Given the description of an element on the screen output the (x, y) to click on. 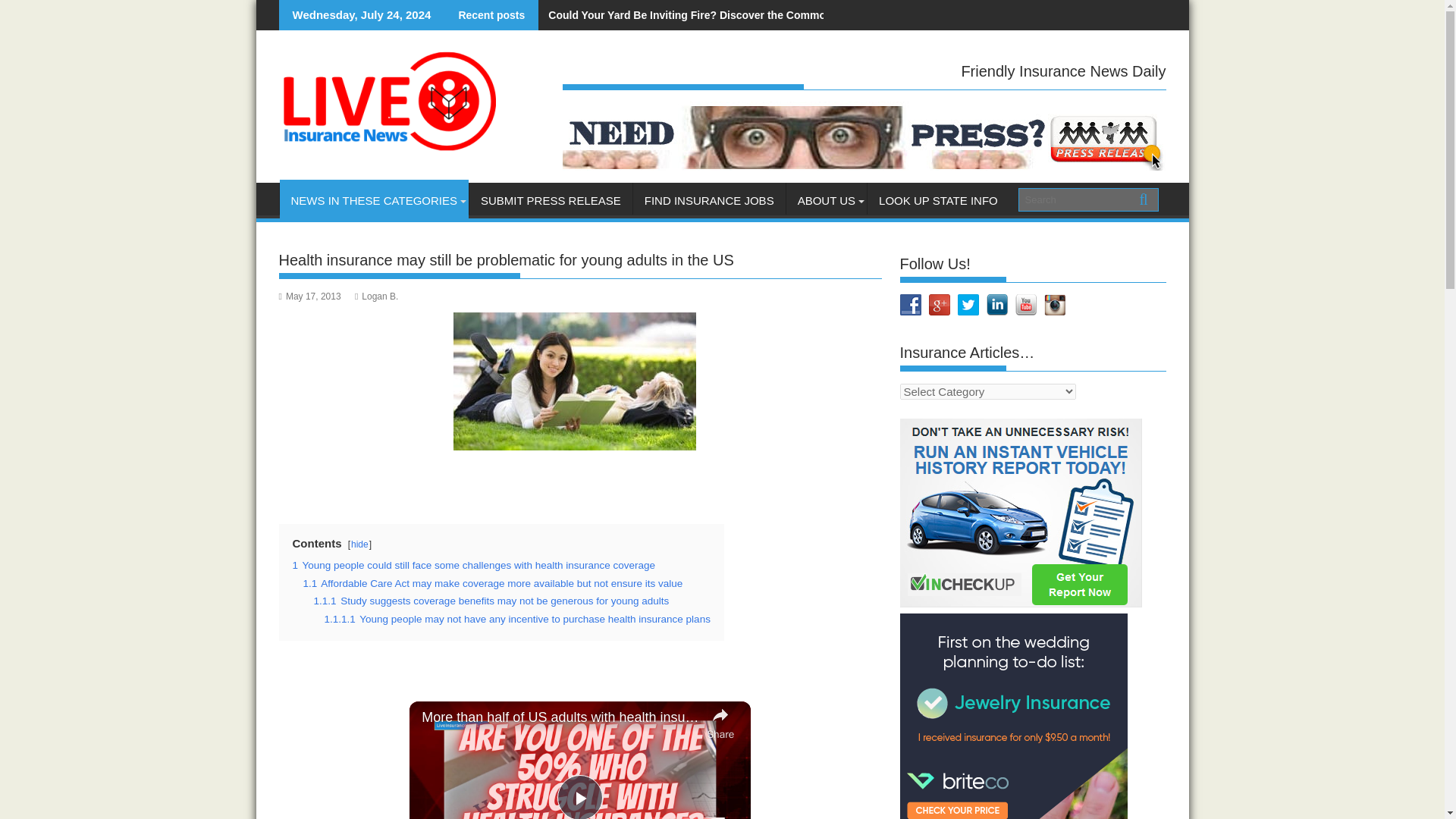
SUBMIT PRESS RELEASE (549, 200)
ABOUT US (826, 200)
LOOK UP STATE INFO (938, 200)
NEWS IN THESE CATEGORIES (373, 200)
FIND INSURANCE JOBS (709, 200)
